Given the description of an element on the screen output the (x, y) to click on. 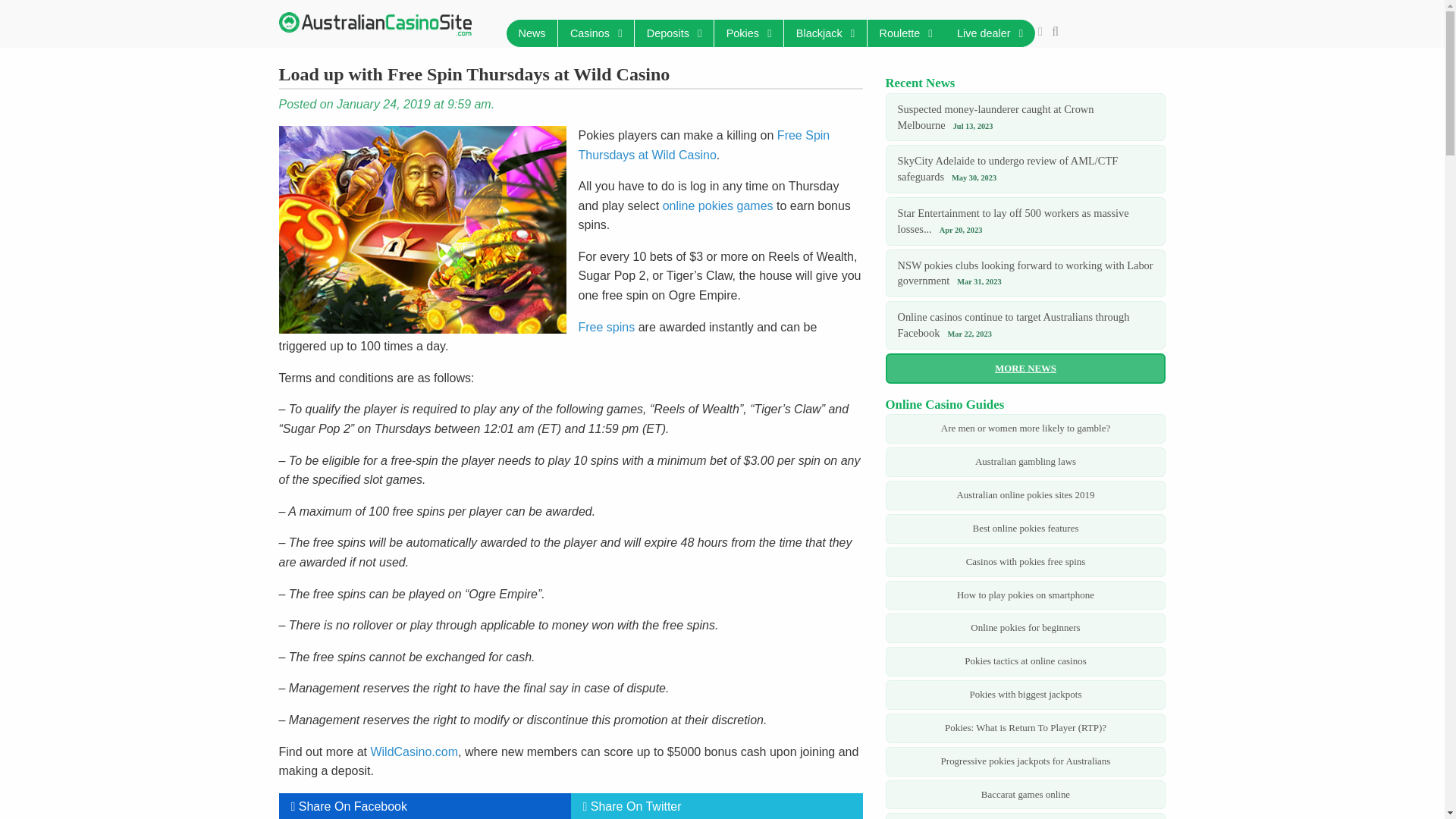
Play pokies online (717, 205)
Australian Casino Sites (375, 24)
Free Spin Thursdays at Wild Casino (428, 229)
Find out more at WildCasino.com (703, 144)
Free spins at online casinos (606, 327)
